Given the description of an element on the screen output the (x, y) to click on. 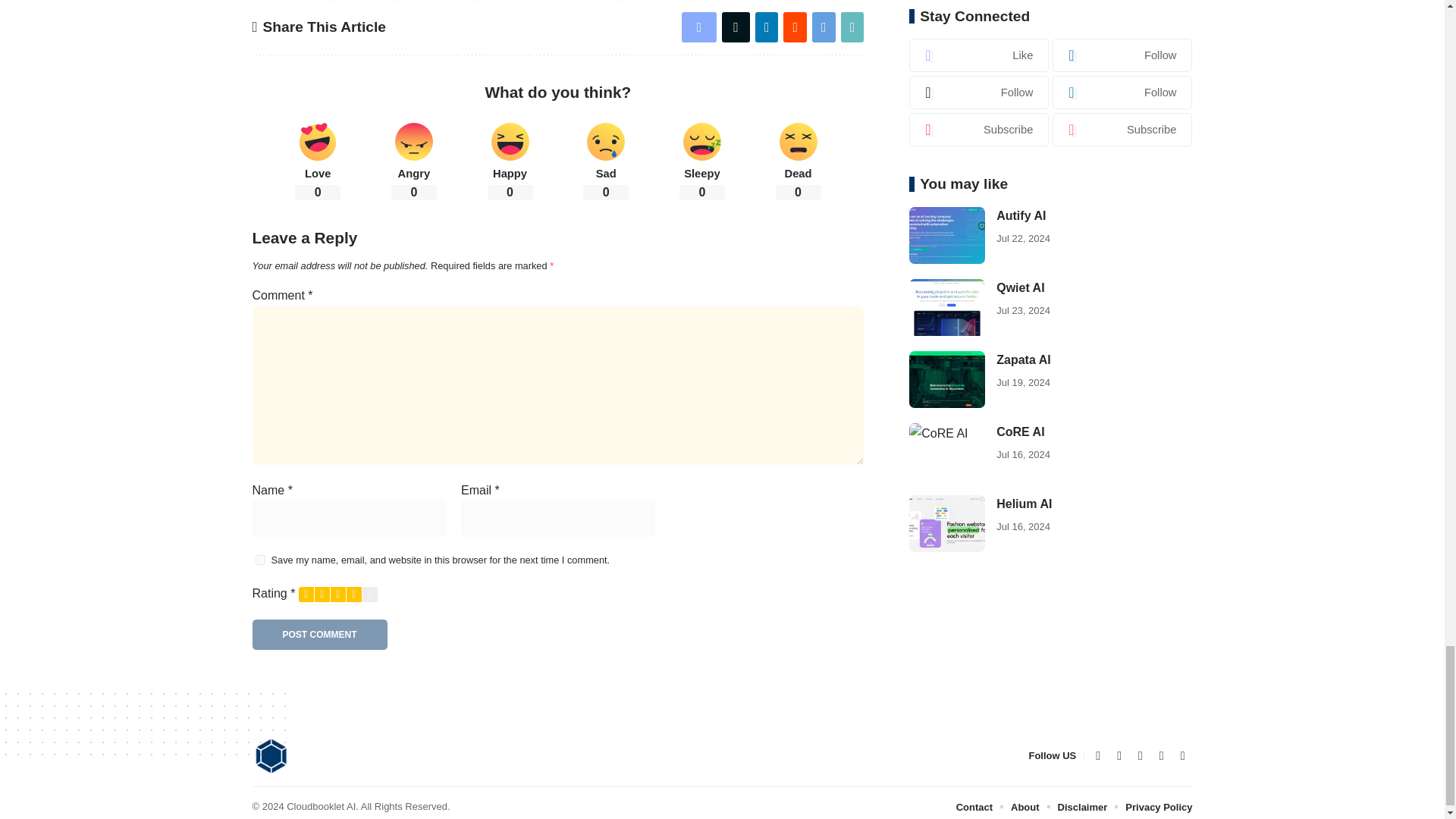
3 Stars (338, 594)
5 Stars (369, 594)
2 Stars (322, 594)
Post Comment (319, 634)
4 Stars (353, 594)
1 Star (306, 594)
yes (259, 560)
